Given the description of an element on the screen output the (x, y) to click on. 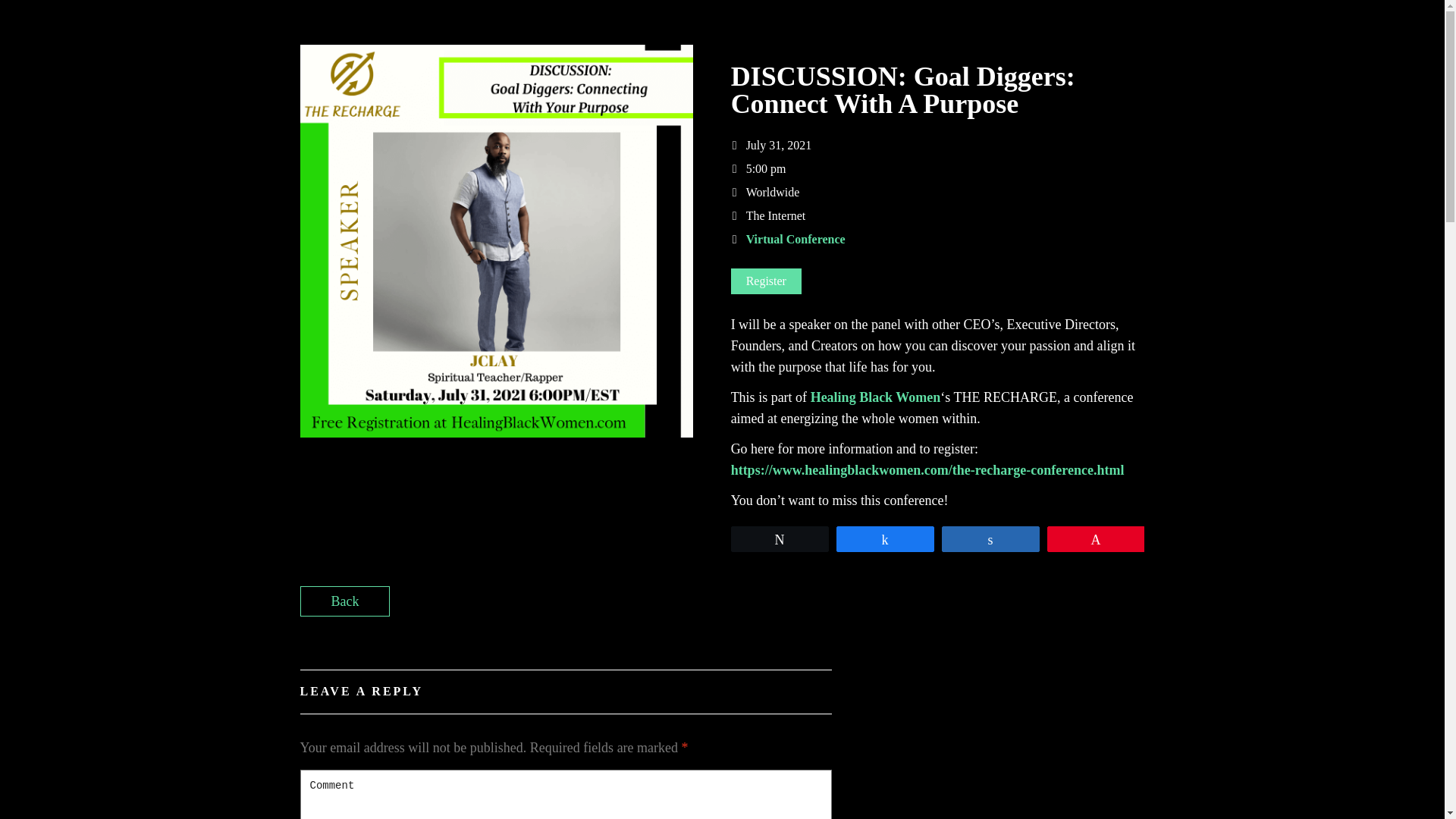
Healing Black Women (875, 396)
Register (766, 281)
Virtual Conference (795, 238)
